Given the description of an element on the screen output the (x, y) to click on. 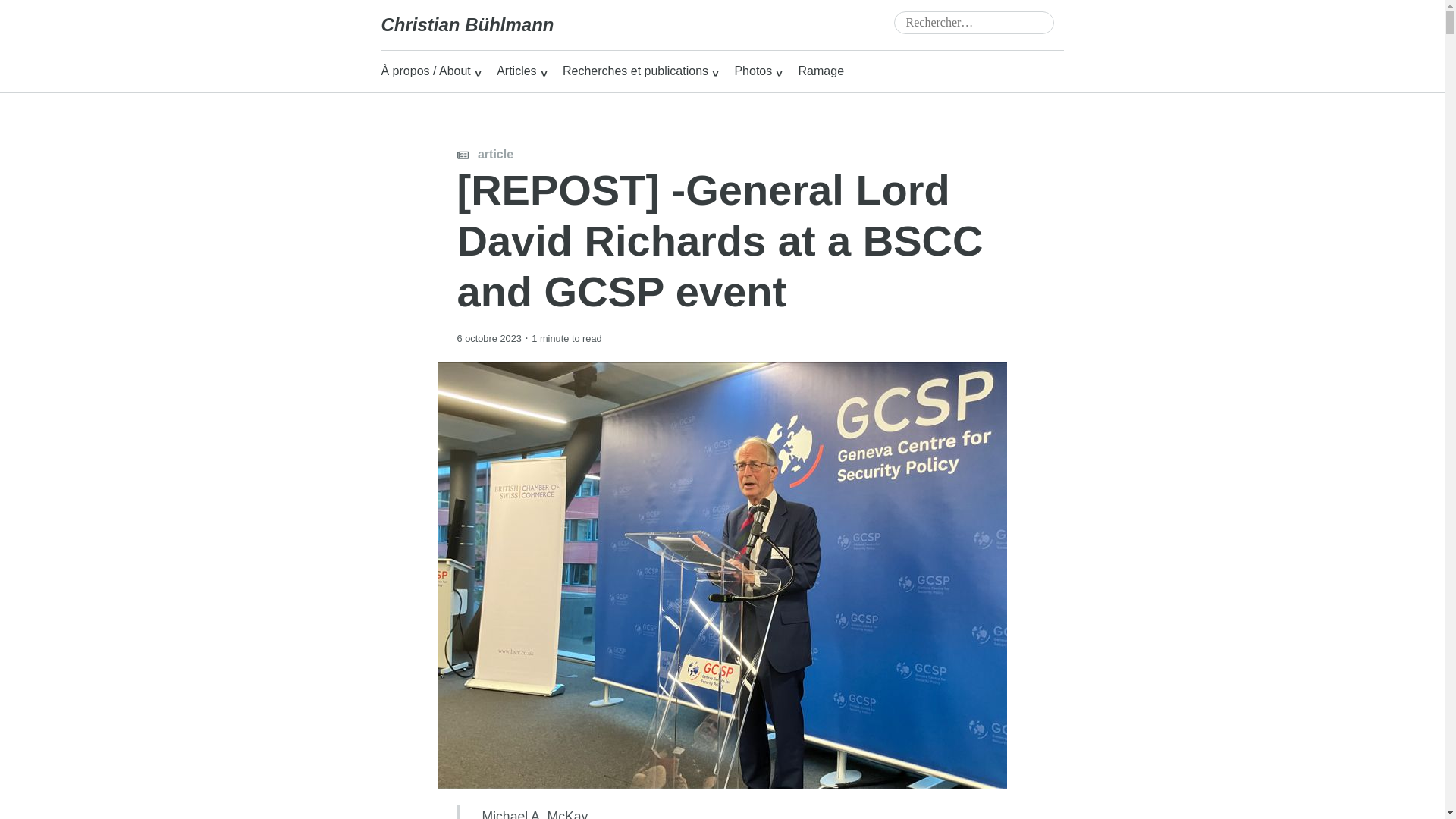
Recherches et publications (640, 70)
Rechercher (43, 14)
article (485, 154)
Photos (758, 70)
Articles (521, 70)
Ramage (820, 70)
6 octobre 2023 (489, 337)
